Given the description of an element on the screen output the (x, y) to click on. 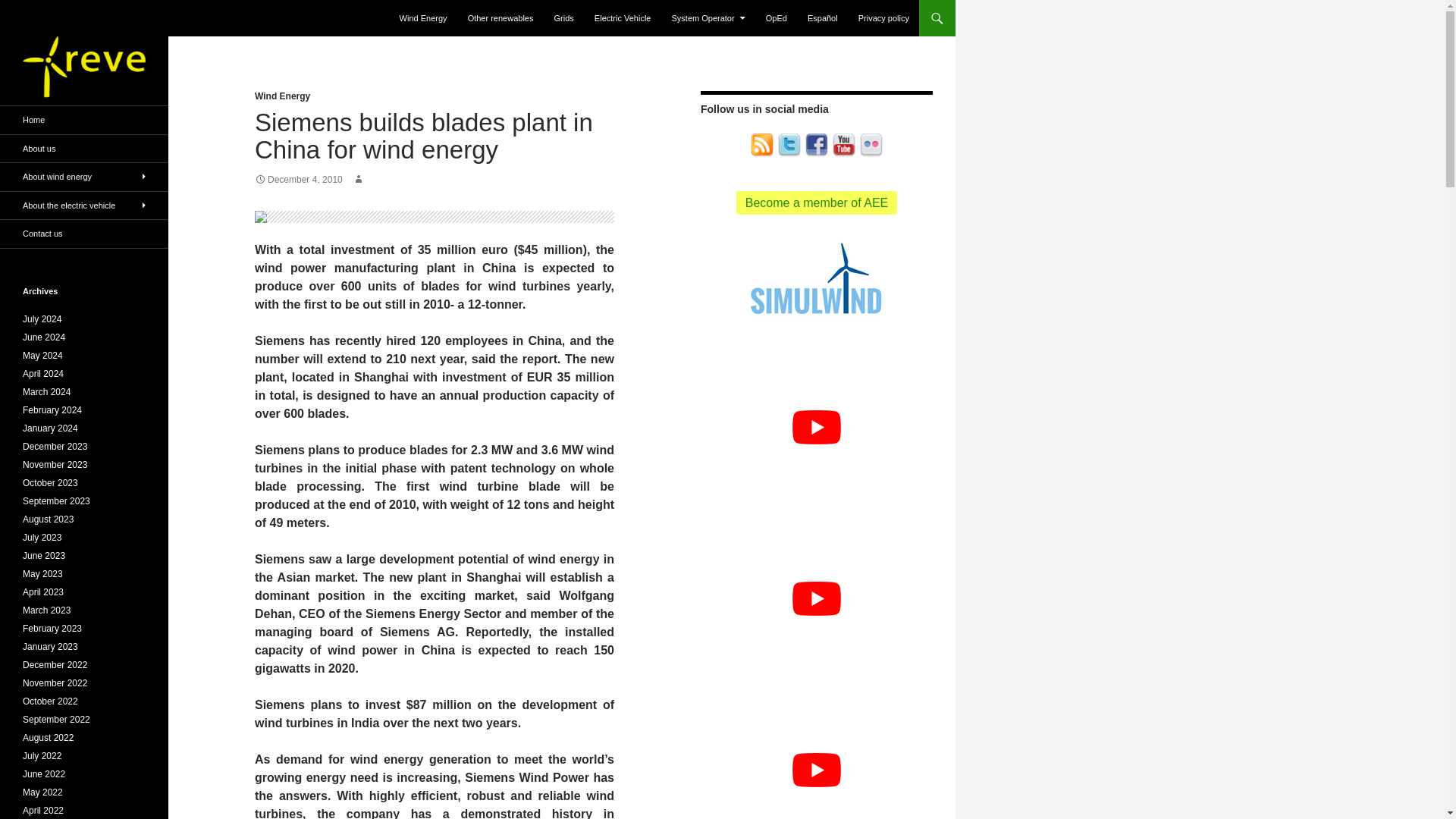
Wind Energy (423, 18)
Wind Energy (282, 95)
Grids (563, 18)
System Operator (708, 18)
RSS (762, 144)
Electric Vehicle (623, 18)
December 4, 2010 (298, 179)
twitter (789, 144)
facebook (816, 145)
Other renewables (500, 18)
twitter (789, 145)
youtube (843, 144)
youtube (843, 145)
facebook (816, 144)
Privacy policy (883, 18)
